Given the description of an element on the screen output the (x, y) to click on. 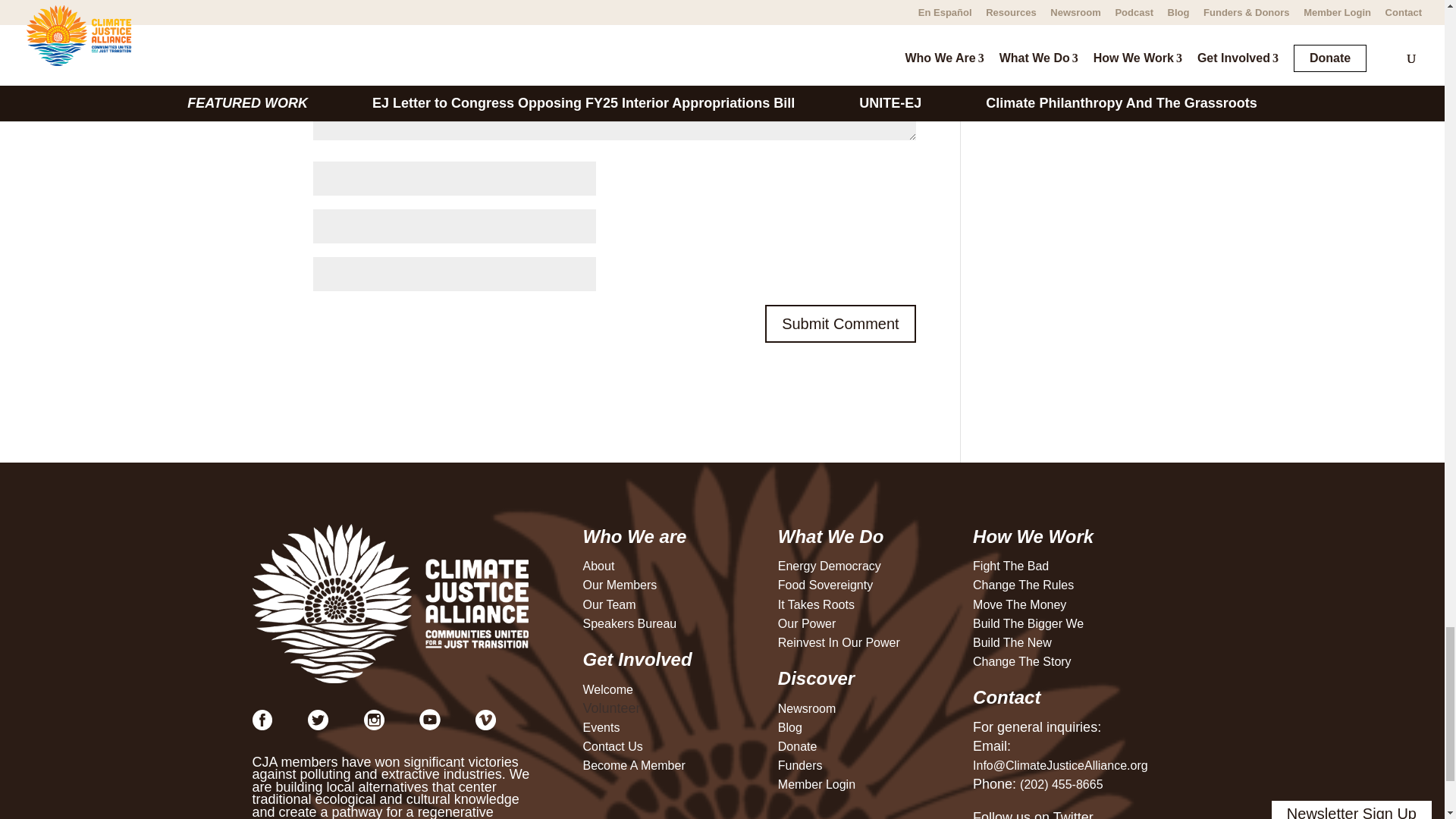
English500OneColorCJALogo (391, 603)
Submit Comment (840, 323)
